Given the description of an element on the screen output the (x, y) to click on. 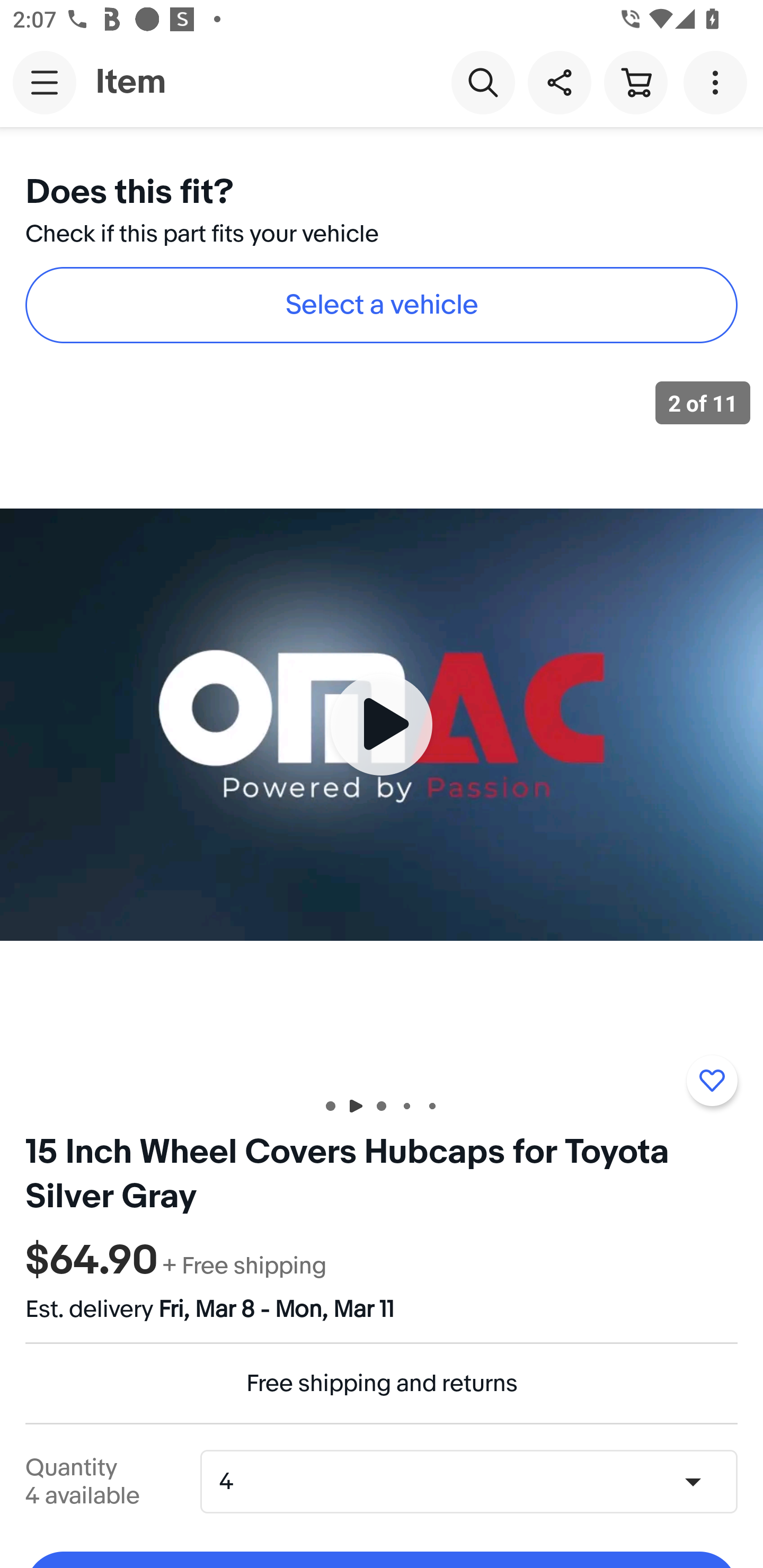
Main navigation, open (44, 82)
Search (482, 81)
Share this item (559, 81)
Cart button shopping cart (635, 81)
More options (718, 81)
Select a vehicle (381, 304)
Item image 2 of 11, plays video (381, 724)
Add to watchlist (711, 1080)
Quantity,4,4 available 4 (474, 1481)
